Given the description of an element on the screen output the (x, y) to click on. 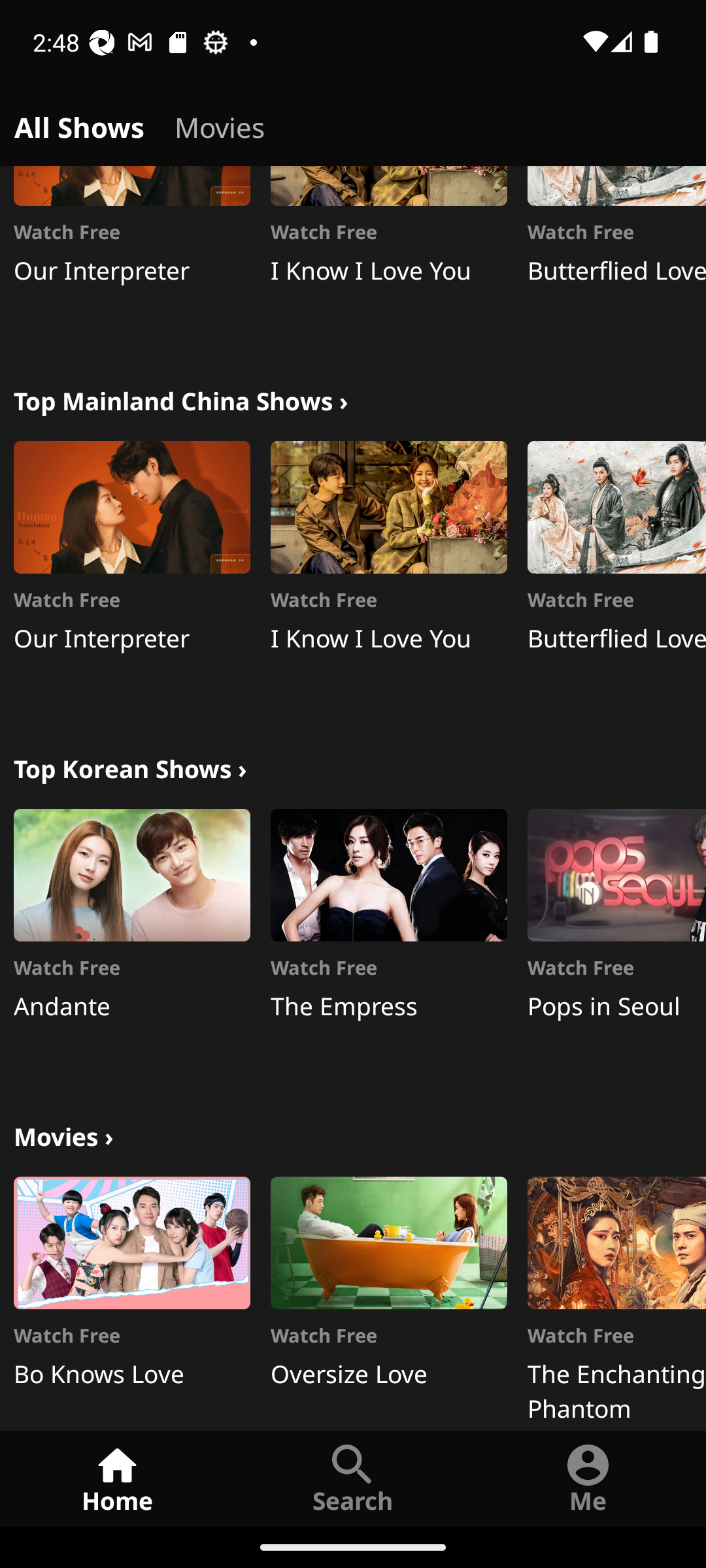
home_tab_movies Movies (219, 124)
Top Mainland China Shows › china_trending (180, 398)
Top Korean Shows › korean_trending (130, 765)
Movies › movies_new (63, 1134)
Search (352, 1478)
Me (588, 1478)
